Given the description of an element on the screen output the (x, y) to click on. 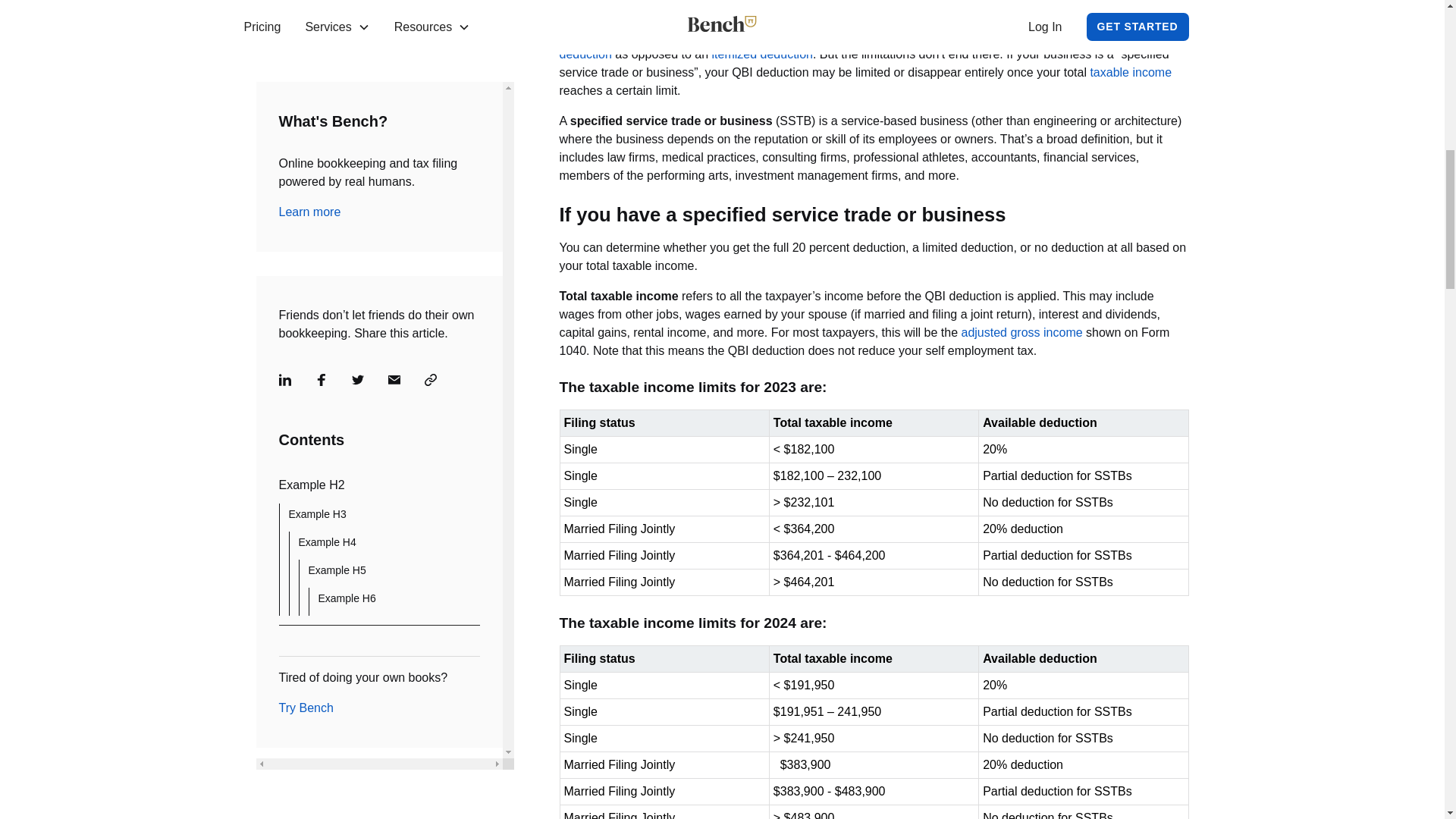
Example H4 (389, 176)
taxable income (1130, 72)
adjusted gross income (1021, 332)
Example H2 (379, 119)
Example H5 (393, 204)
Example H6 (399, 232)
Try Bench (306, 341)
standard deduction (870, 44)
Example H3 (383, 148)
itemized deduction (761, 53)
